Given the description of an element on the screen output the (x, y) to click on. 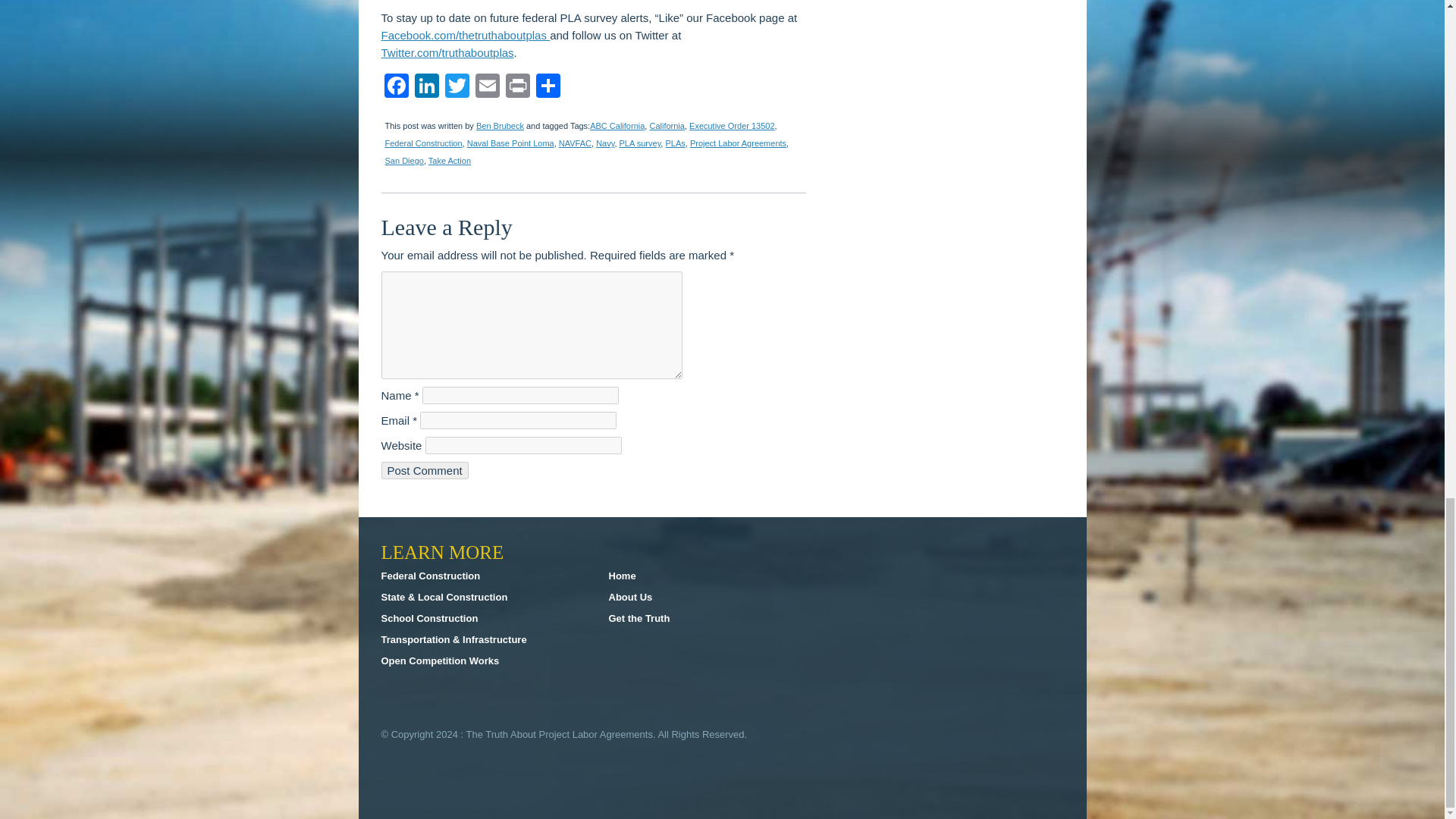
Twitter (456, 87)
Facebook (395, 87)
Email (486, 87)
LinkedIn (425, 87)
Posts by Ben Brubeck (500, 125)
Facebook (395, 87)
Post Comment (423, 470)
Print (517, 87)
